Given the description of an element on the screen output the (x, y) to click on. 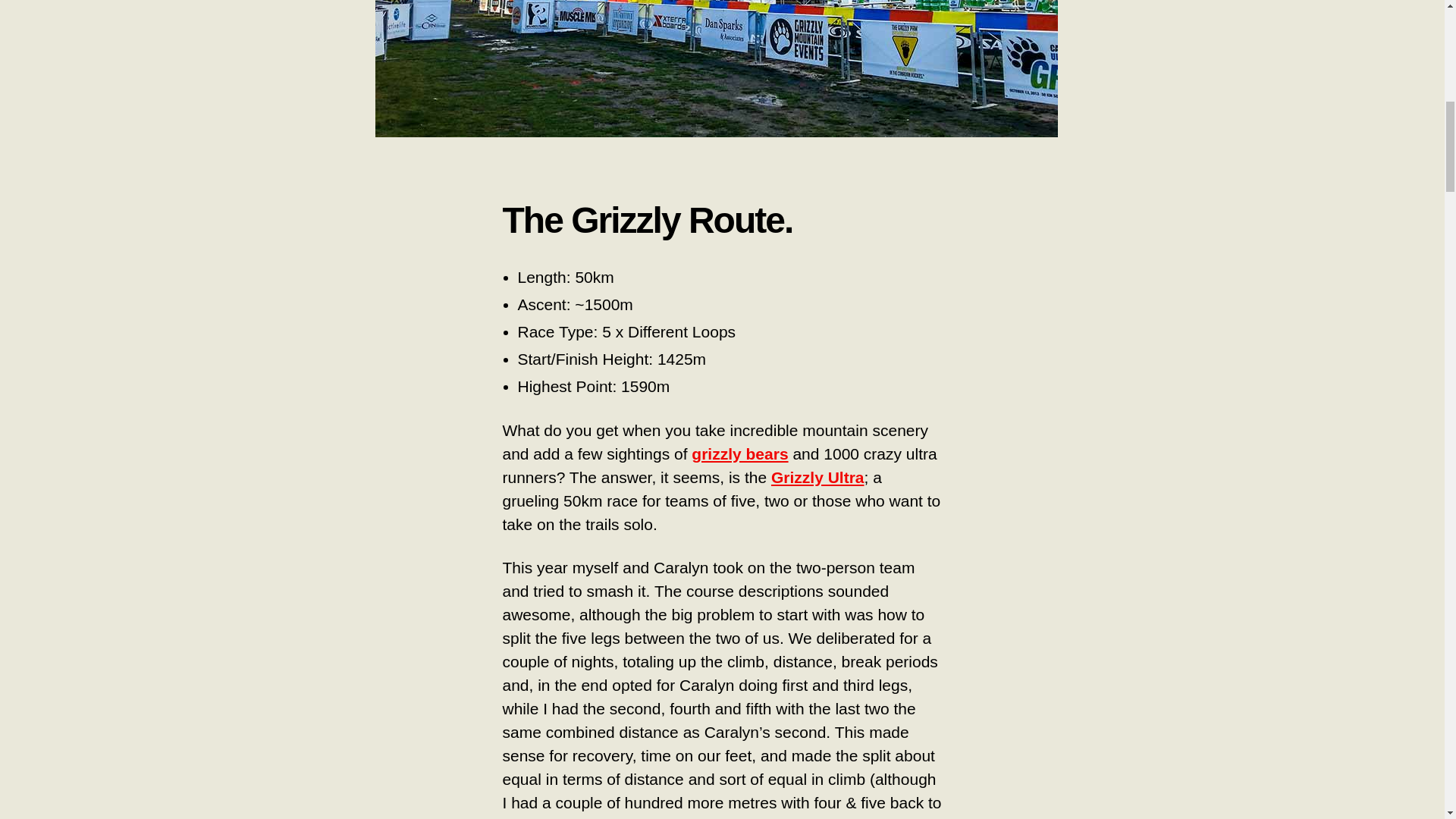
grizzly bears (739, 453)
The Grizzly Ultra (717, 68)
Grizzly Ultra (817, 477)
